Given the description of an element on the screen output the (x, y) to click on. 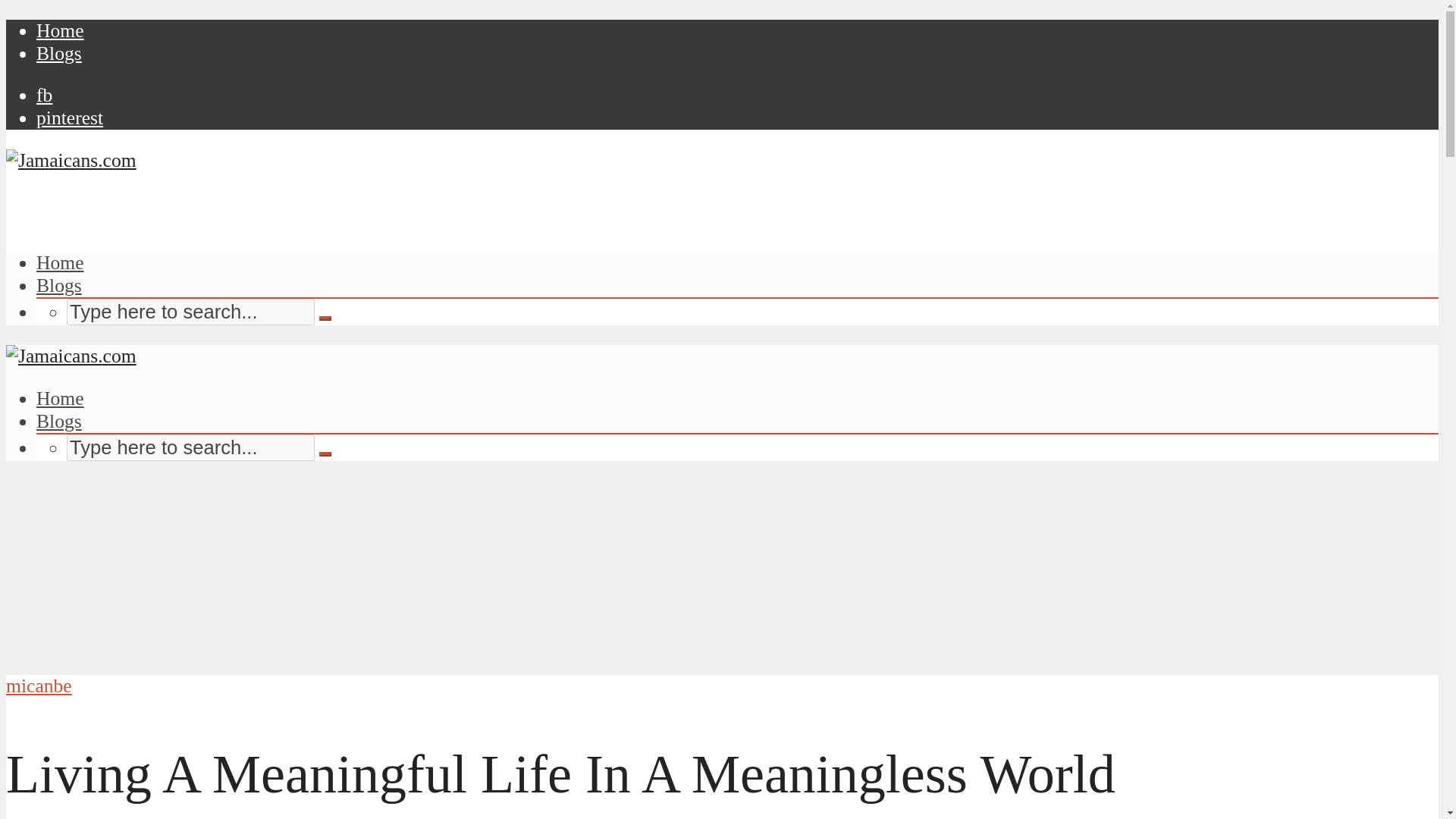
Type here to search... (190, 311)
pinterest (69, 117)
Blogs (58, 285)
Blogs (58, 53)
Type here to search... (190, 447)
Home (60, 262)
Type here to search... (190, 447)
Type here to search... (190, 311)
Blogs (58, 421)
Home (60, 398)
Home (60, 30)
micanbe (38, 685)
